Given the description of an element on the screen output the (x, y) to click on. 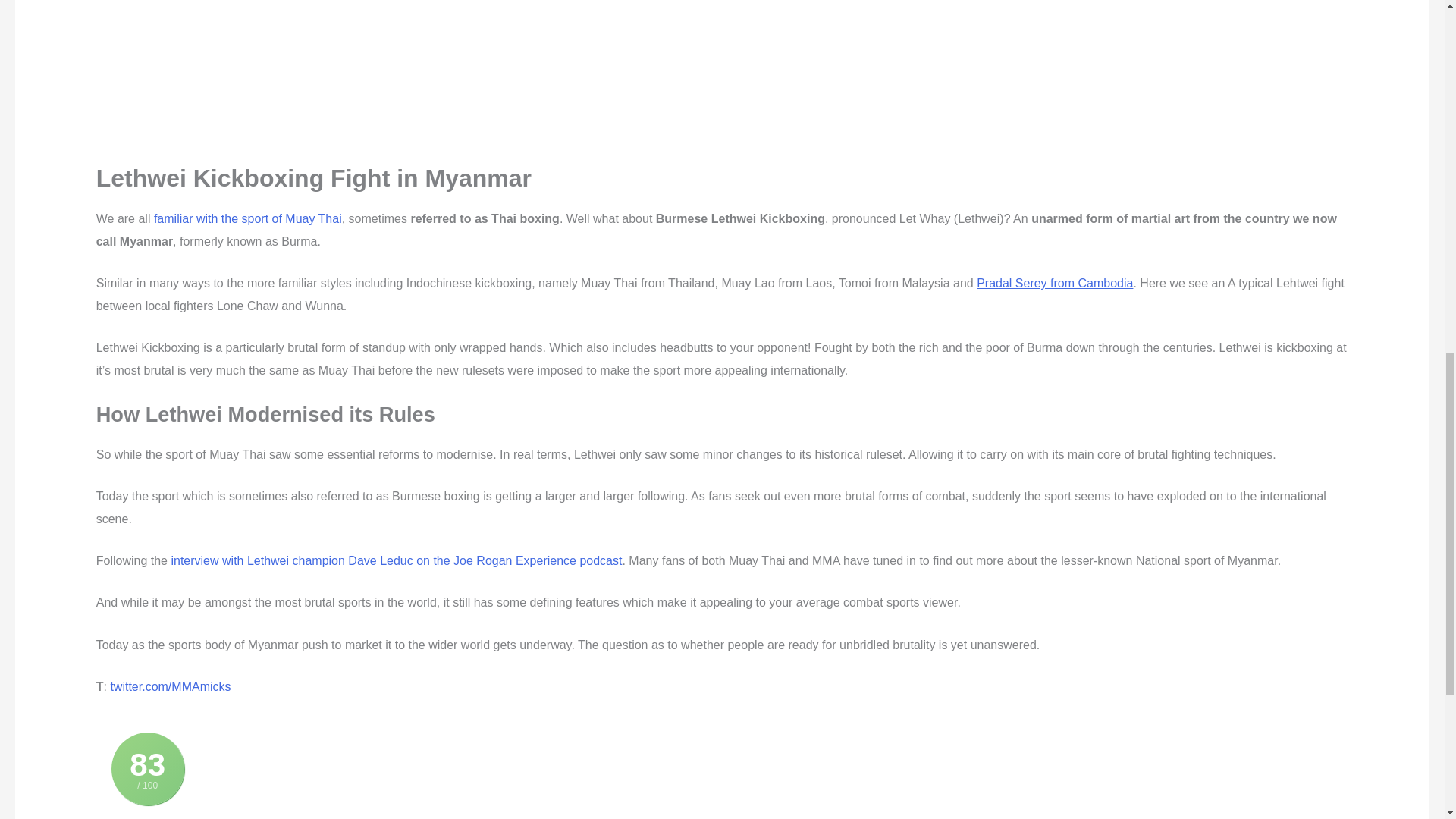
Pradal Serey from Cambodia (1054, 282)
familiar with the sport of Muay Thai (248, 218)
